Given the description of an element on the screen output the (x, y) to click on. 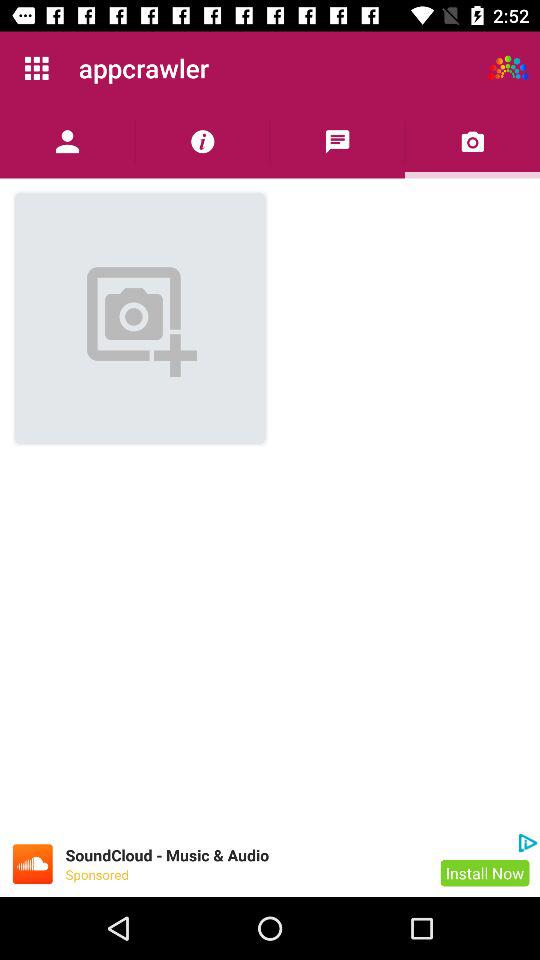
chat/message (337, 141)
